Given the description of an element on the screen output the (x, y) to click on. 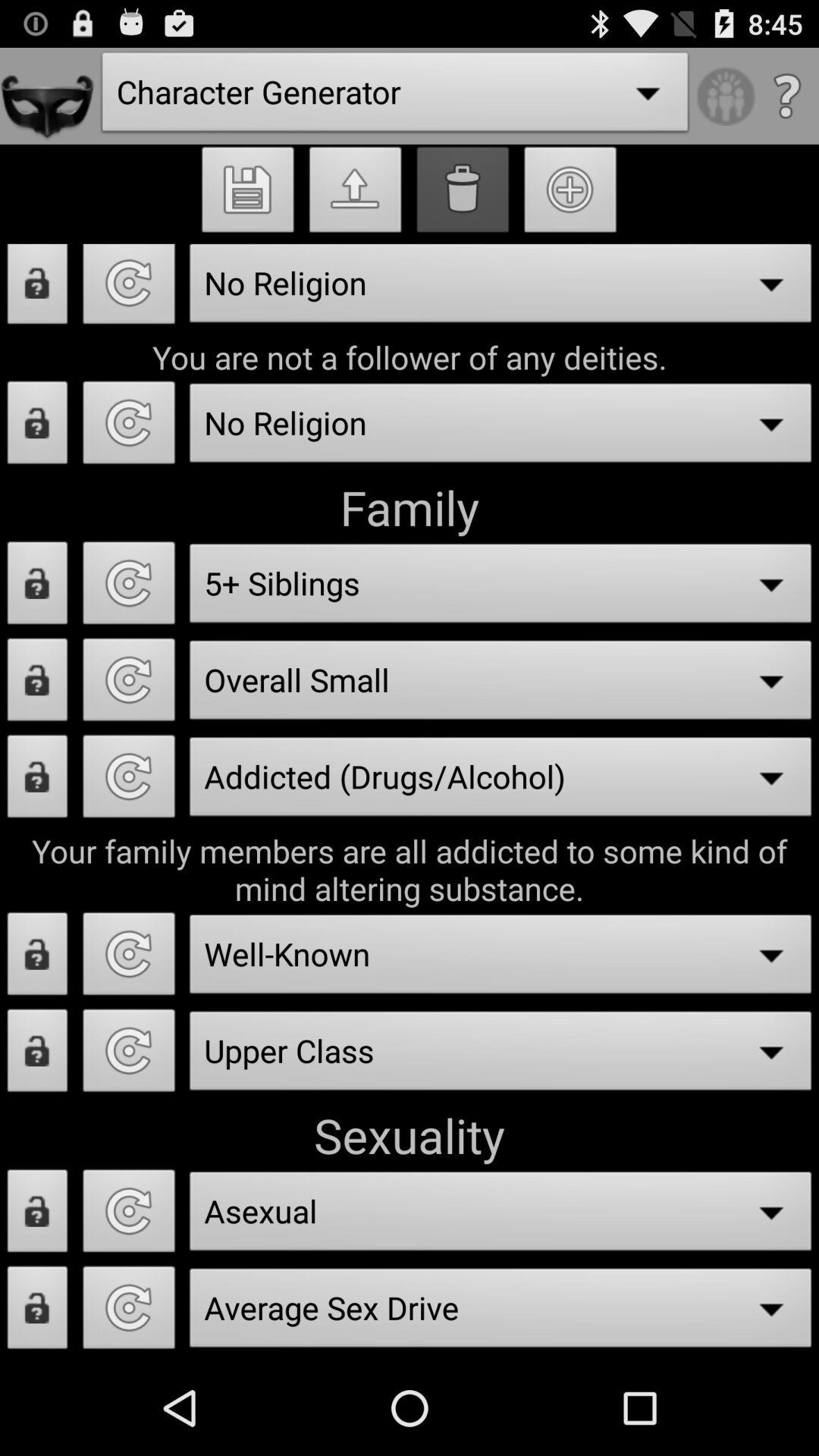
click to lock (37, 587)
